Given the description of an element on the screen output the (x, y) to click on. 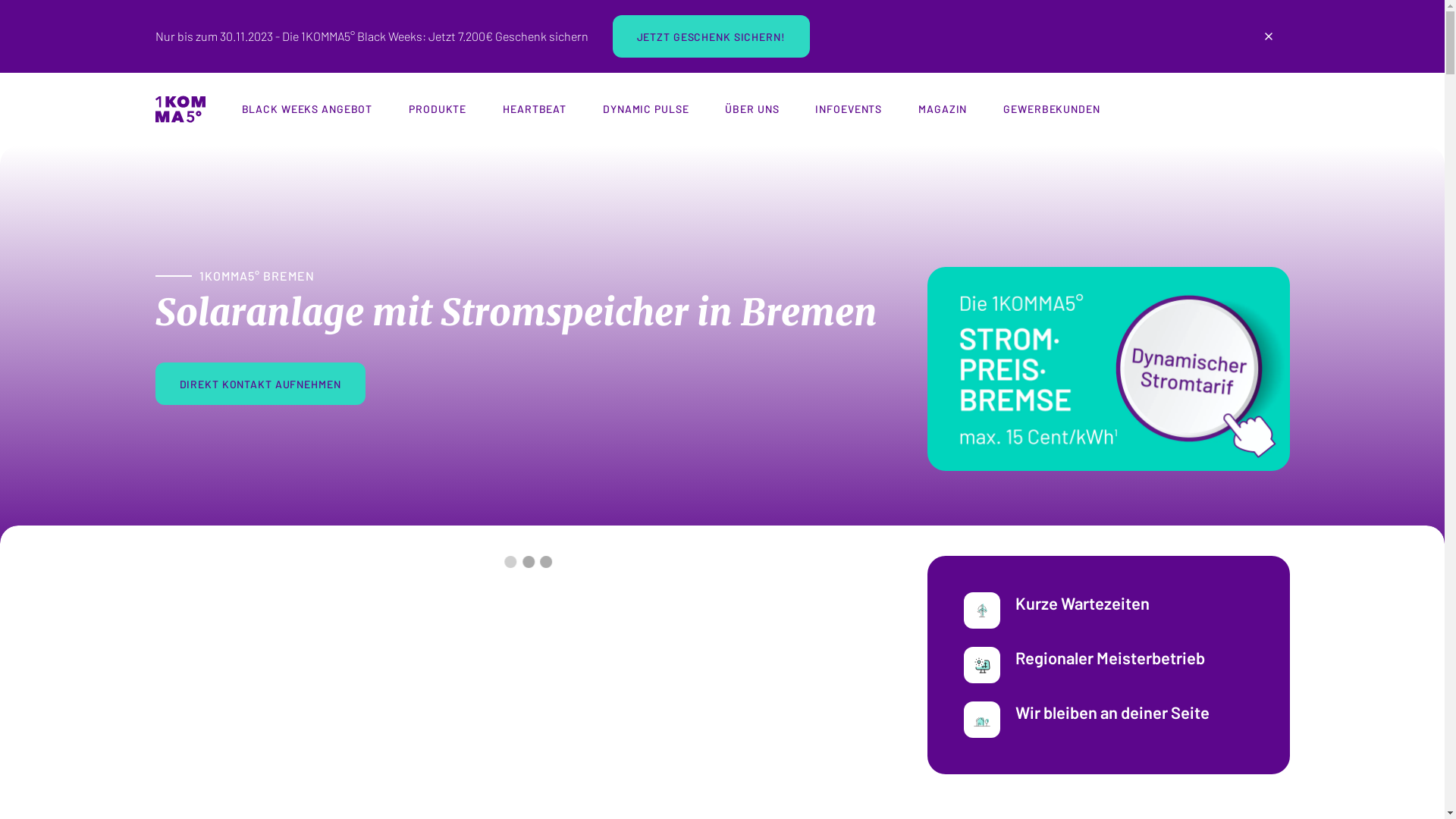
HEARTBEAT Element type: text (534, 108)
GEWERBEKUNDEN Element type: text (1051, 108)
DYNAMIC PULSE Element type: text (645, 108)
JETZT GESCHENK SICHERN! Element type: text (710, 36)
MAGAZIN Element type: text (942, 108)
INFOEVENTS Element type: text (848, 108)
BLACK WEEKS ANGEBOT Element type: text (306, 108)
DIREKT KONTAKT AUFNEHMEN Element type: text (259, 383)
